Given the description of an element on the screen output the (x, y) to click on. 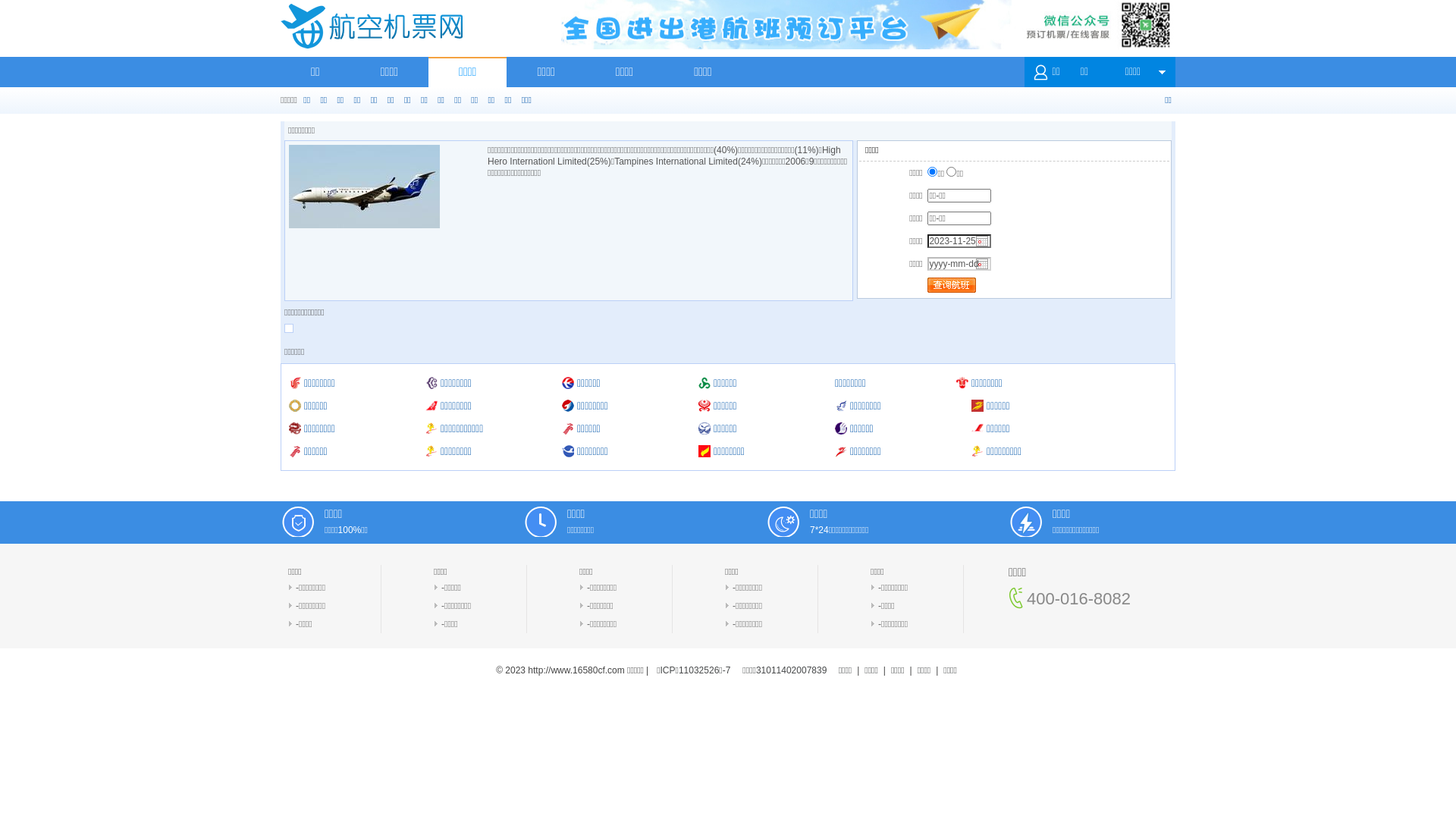
2023-11-25 Element type: text (959, 240)
1 Element type: text (932, 171)
yyyy-mm-dd Element type: text (959, 263)
2 Element type: text (951, 171)
